Given the description of an element on the screen output the (x, y) to click on. 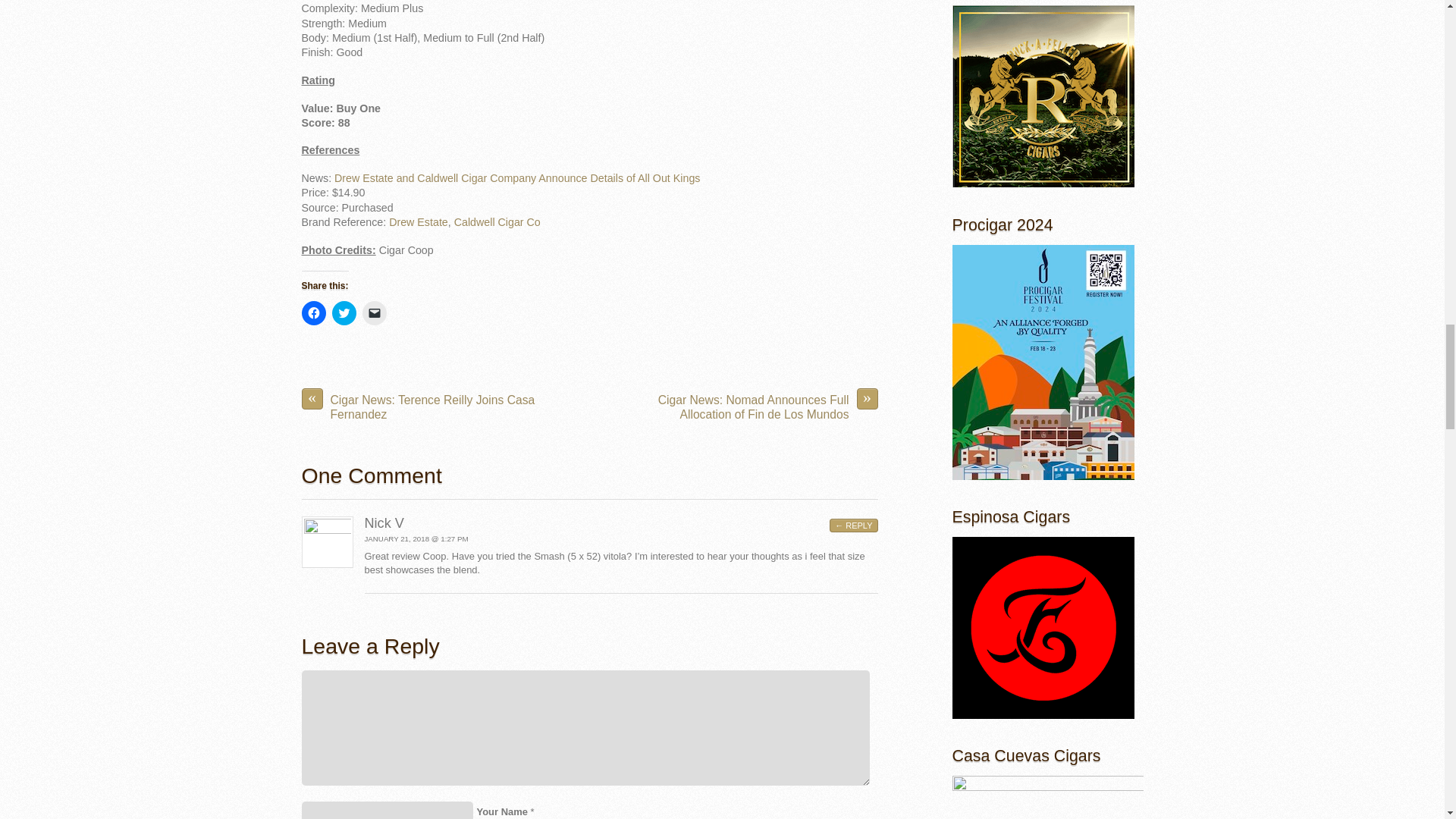
Click to email a link to a friend (374, 313)
Click to share on Facebook (313, 313)
Click to share on Twitter (343, 313)
